Given the description of an element on the screen output the (x, y) to click on. 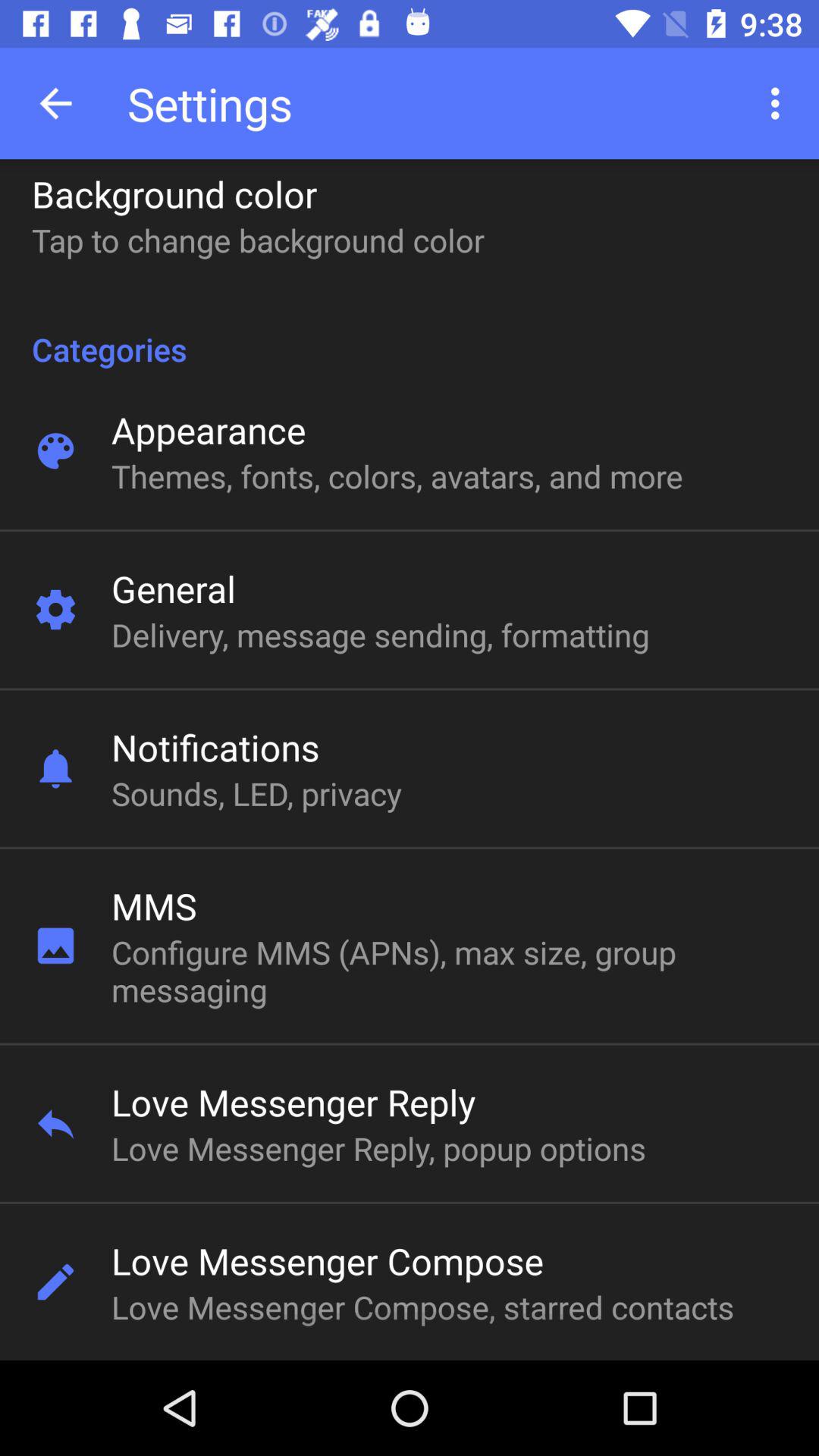
choose icon to the right of settings icon (779, 103)
